Given the description of an element on the screen output the (x, y) to click on. 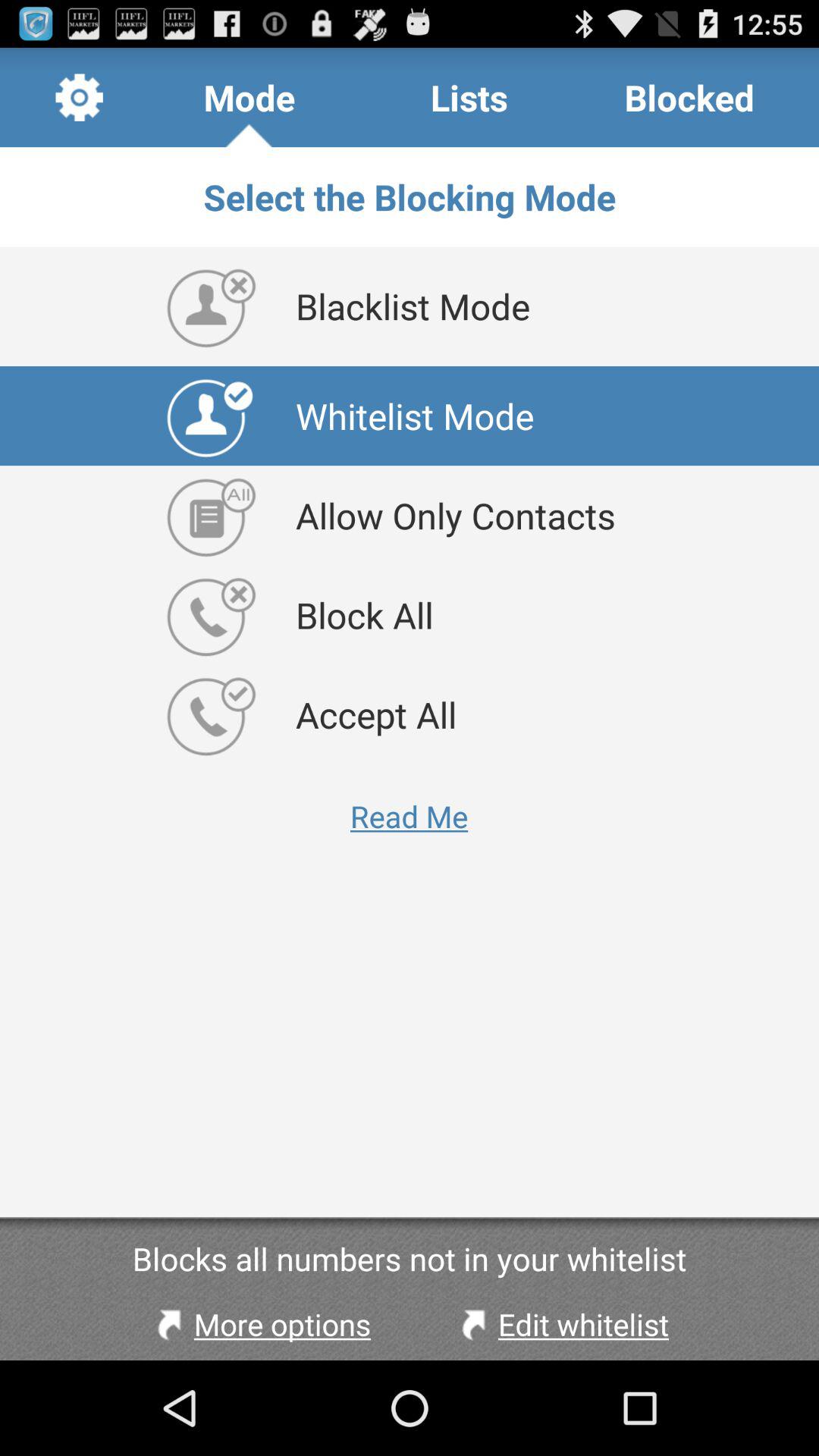
launch the app below the blocks all numbers item (260, 1324)
